Given the description of an element on the screen output the (x, y) to click on. 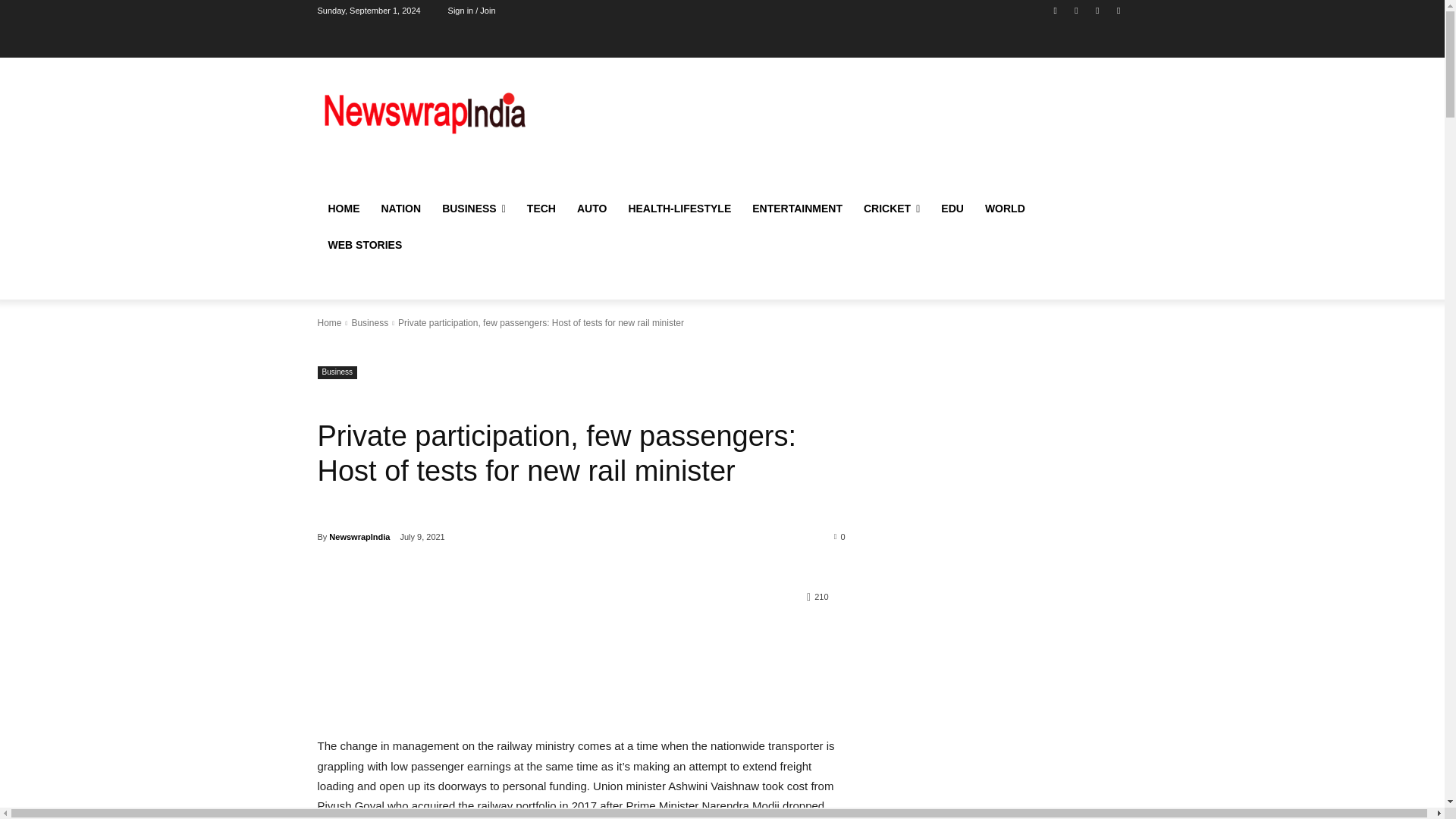
View all posts in Business (369, 322)
AUTO (591, 208)
NATION (399, 208)
Twitter (1075, 9)
ENTERTAINMENT (797, 208)
BUSINESS (473, 208)
Youtube (1097, 9)
CRICKET (891, 208)
HEALTH-LIFESTYLE (679, 208)
TECH (541, 208)
